Given the description of an element on the screen output the (x, y) to click on. 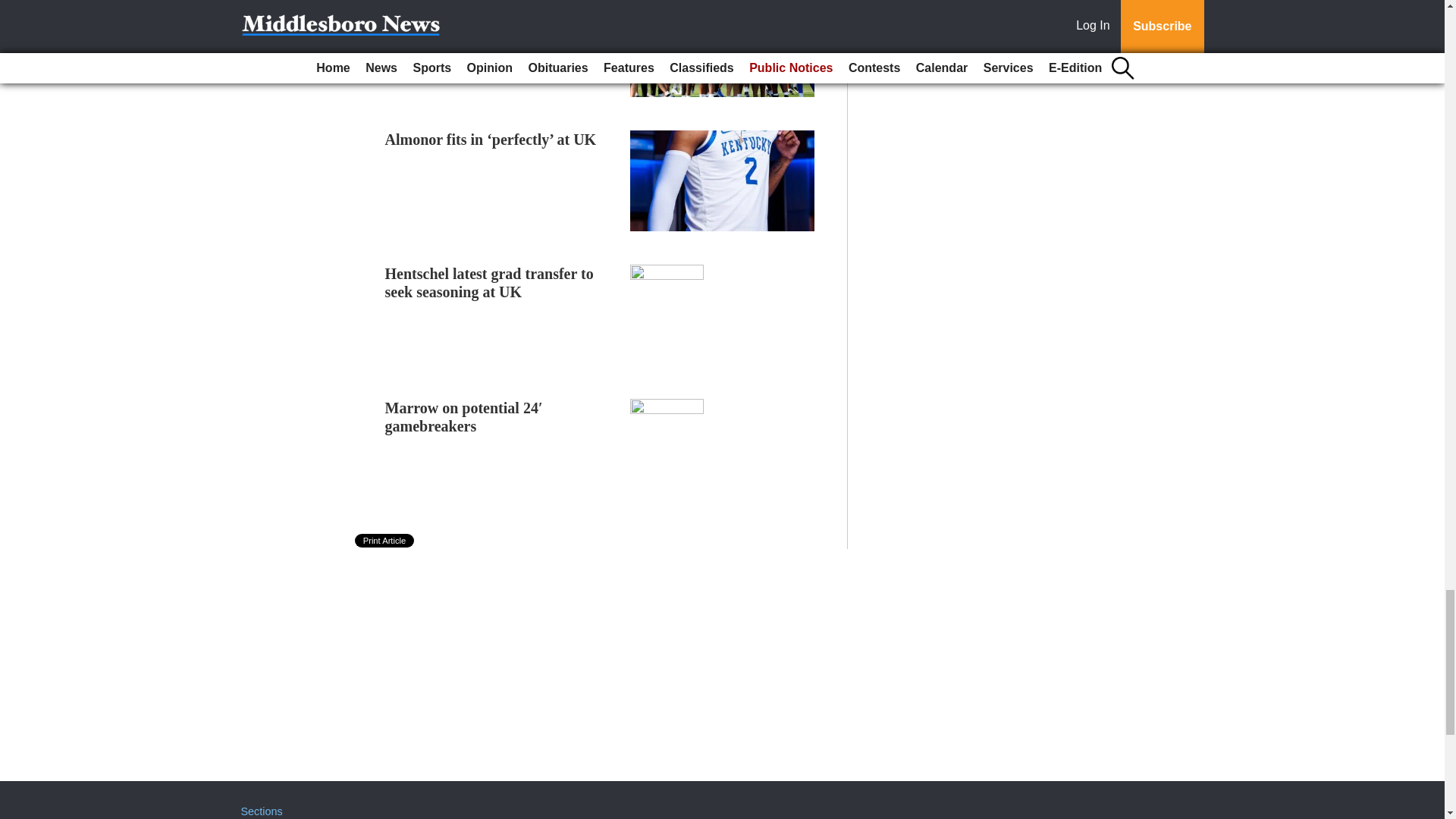
Print Article (384, 540)
Hentschel latest grad transfer to seek seasoning at UK (489, 282)
UK DC wants to keep things simple this season (499, 15)
Hentschel latest grad transfer to seek seasoning at UK (489, 282)
UK DC wants to keep things simple this season (499, 15)
